Given the description of an element on the screen output the (x, y) to click on. 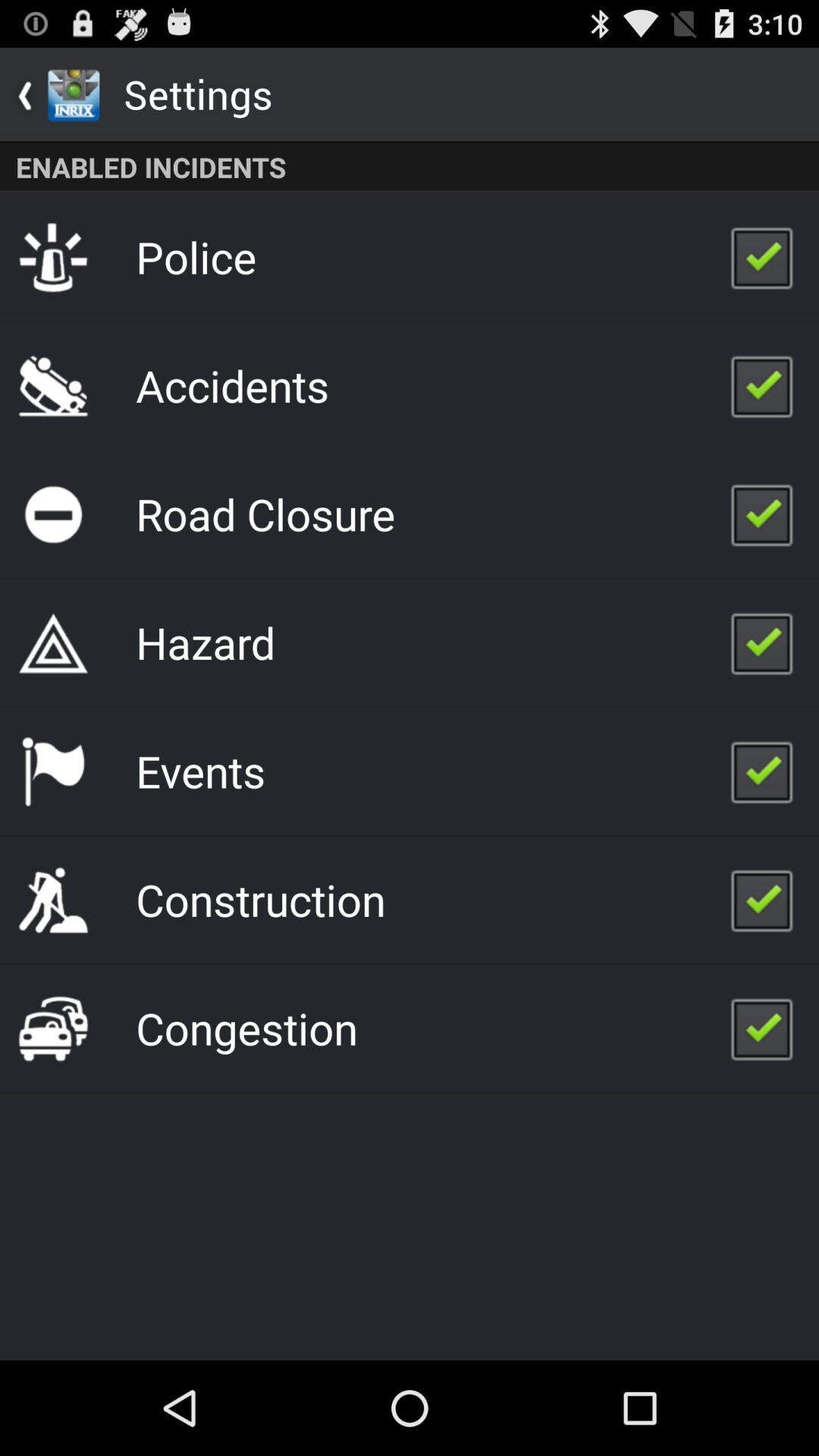
swipe to the hazard (205, 642)
